Given the description of an element on the screen output the (x, y) to click on. 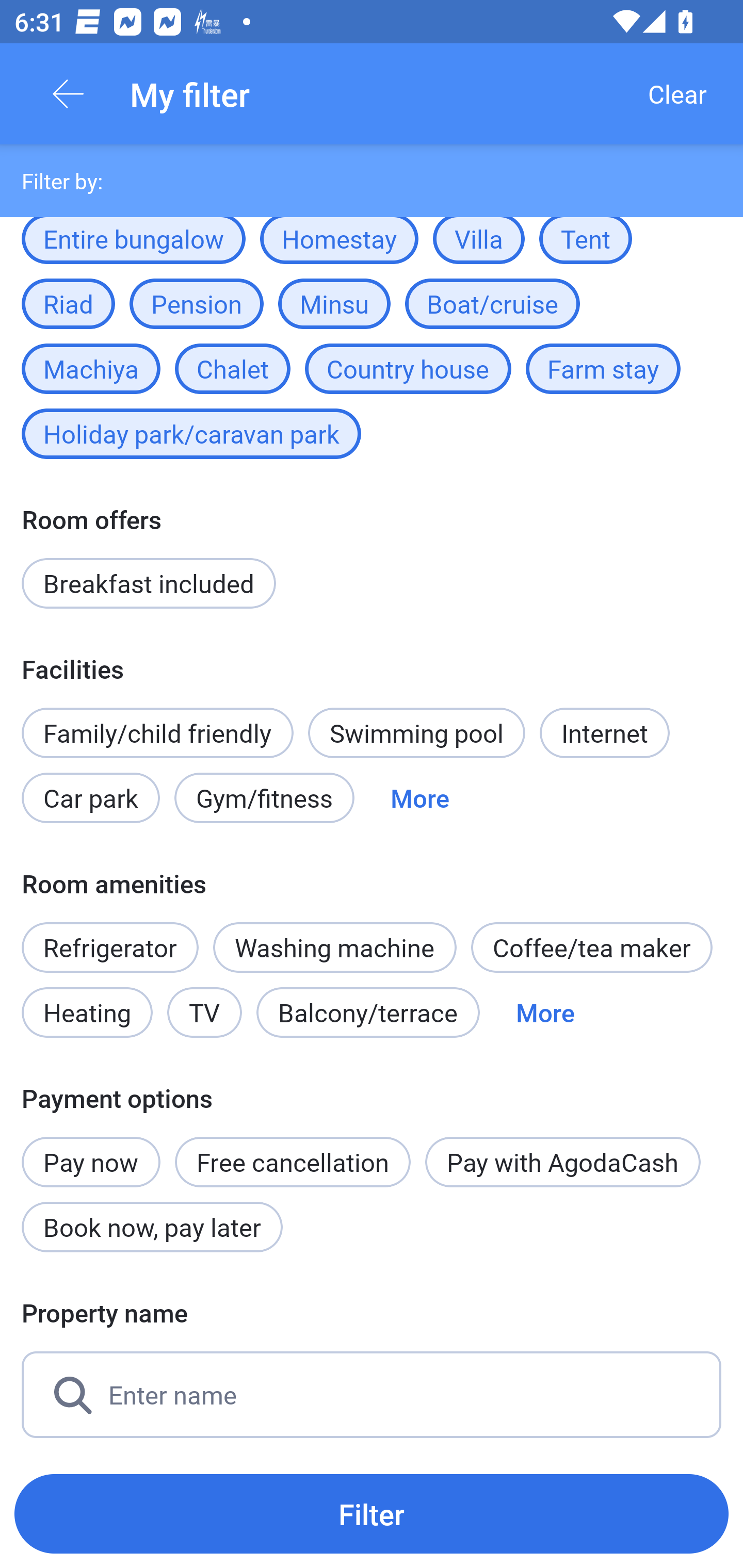
Clear (676, 93)
Breakfast included (148, 583)
Family/child friendly (157, 732)
Swimming pool (416, 732)
Internet (604, 732)
Car park (90, 798)
Gym/fitness (264, 798)
More (420, 798)
Refrigerator (109, 947)
Washing machine (334, 947)
Coffee/tea maker (591, 947)
Heating (87, 1012)
TV (204, 1012)
Balcony/terrace (367, 1012)
More (545, 1012)
Pay now (90, 1150)
Free cancellation (292, 1161)
Pay with AgodaCash (562, 1161)
Book now, pay later (152, 1226)
Enter name (371, 1394)
Filter (371, 1513)
